Given the description of an element on the screen output the (x, y) to click on. 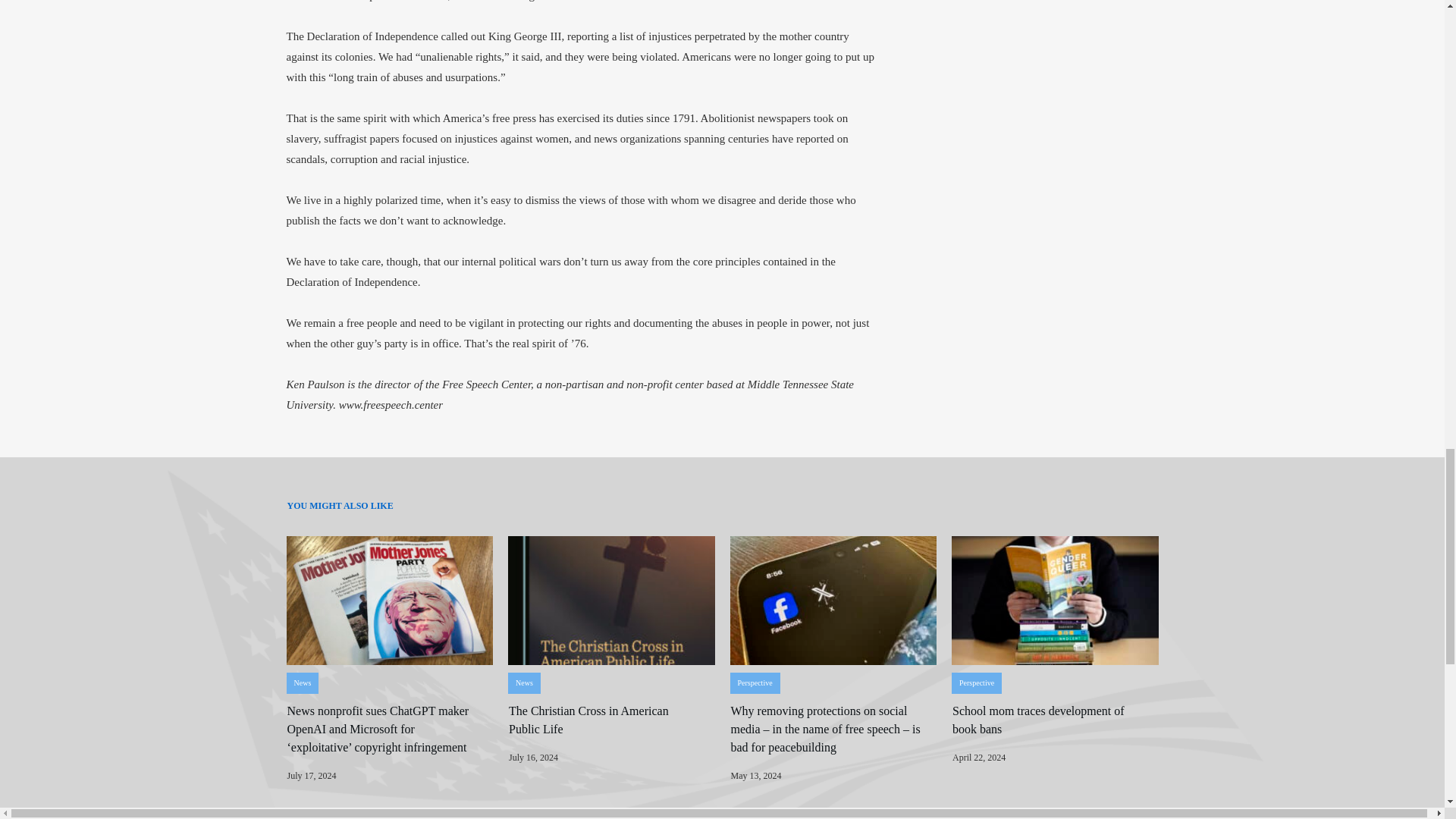
Perspective (976, 682)
Perspective (976, 682)
School mom traces development of book bans (1038, 719)
News (302, 682)
News (302, 682)
Perspective (753, 682)
News (523, 682)
Perspective (753, 682)
School mom traces development of book bans (1038, 719)
The Christian Cross in American Public Life (588, 719)
News (523, 682)
The Christian Cross in American Public Life (588, 719)
